Given the description of an element on the screen output the (x, y) to click on. 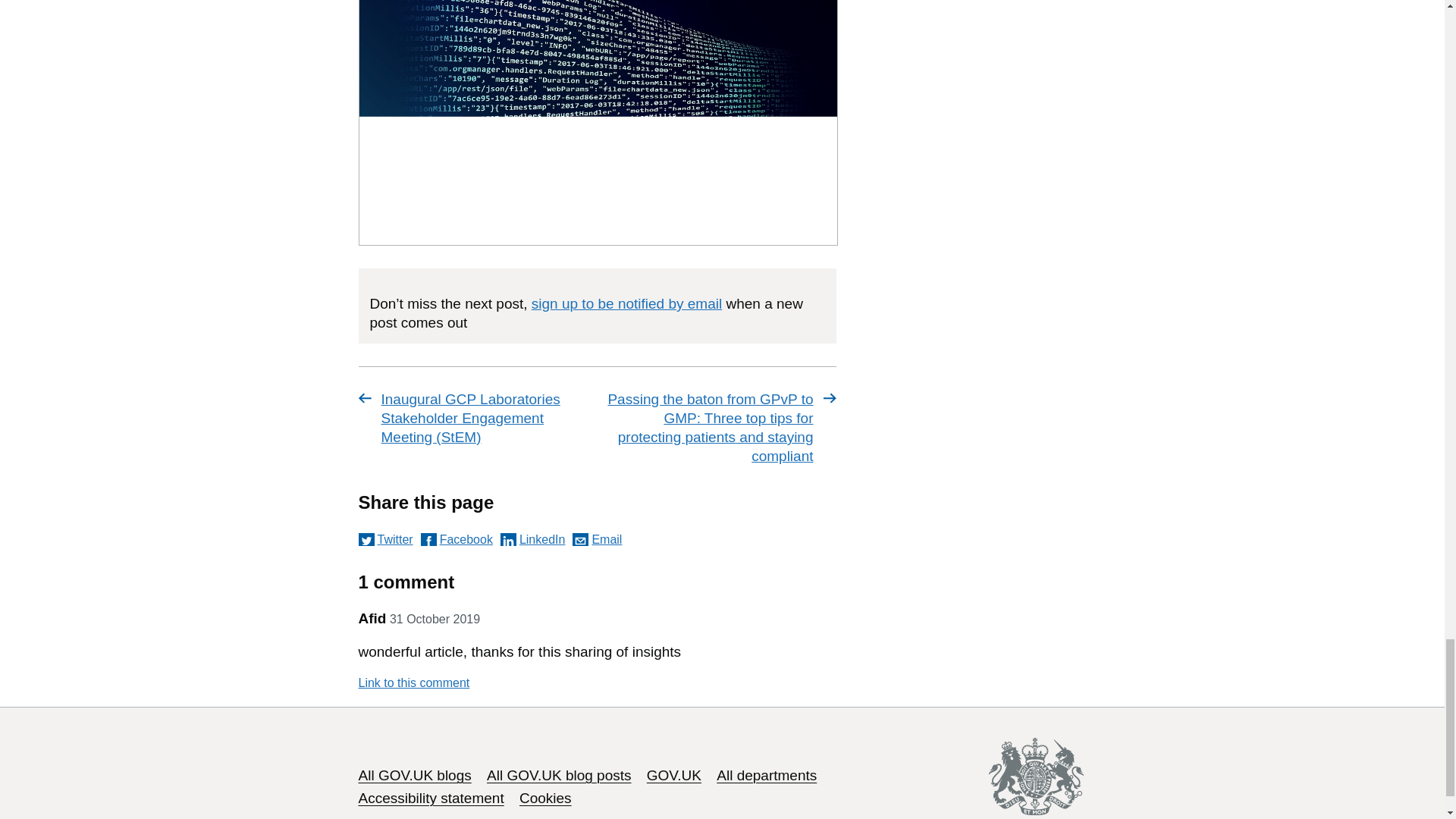
sign up to be notified by email (626, 303)
Twitter (385, 539)
LinkedIn (533, 539)
Email (596, 539)
Link to this comment (413, 683)
Facebook (456, 539)
